Given the description of an element on the screen output the (x, y) to click on. 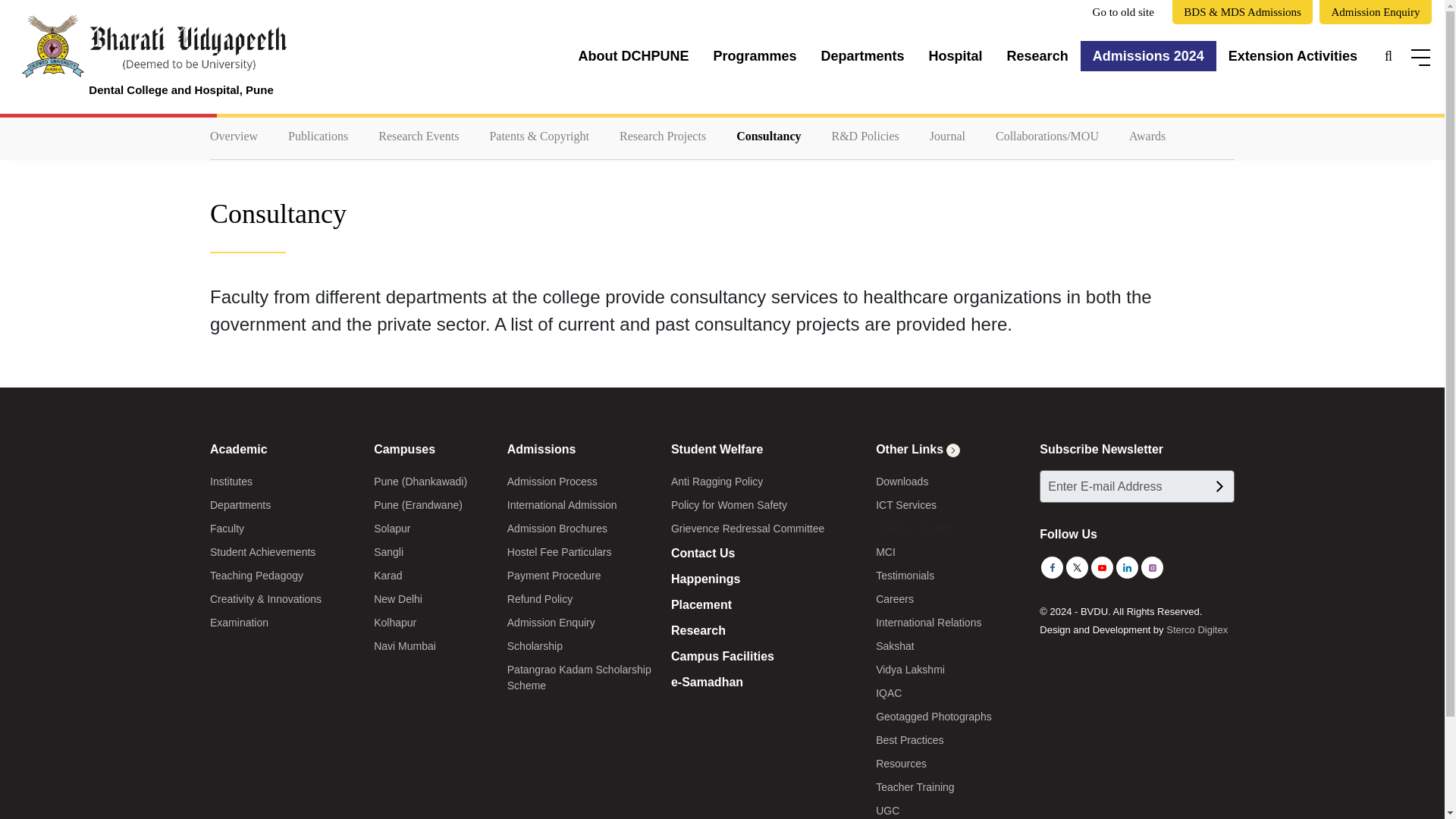
Programmes (754, 55)
Go to old site (1123, 12)
Research (1037, 55)
Admission Enquiry (1375, 12)
Admissions 2024 (1147, 55)
Hospital (955, 55)
About DCHPUNE (633, 55)
Departments (863, 55)
Dental College and Hospital, Pune (150, 56)
